Given the description of an element on the screen output the (x, y) to click on. 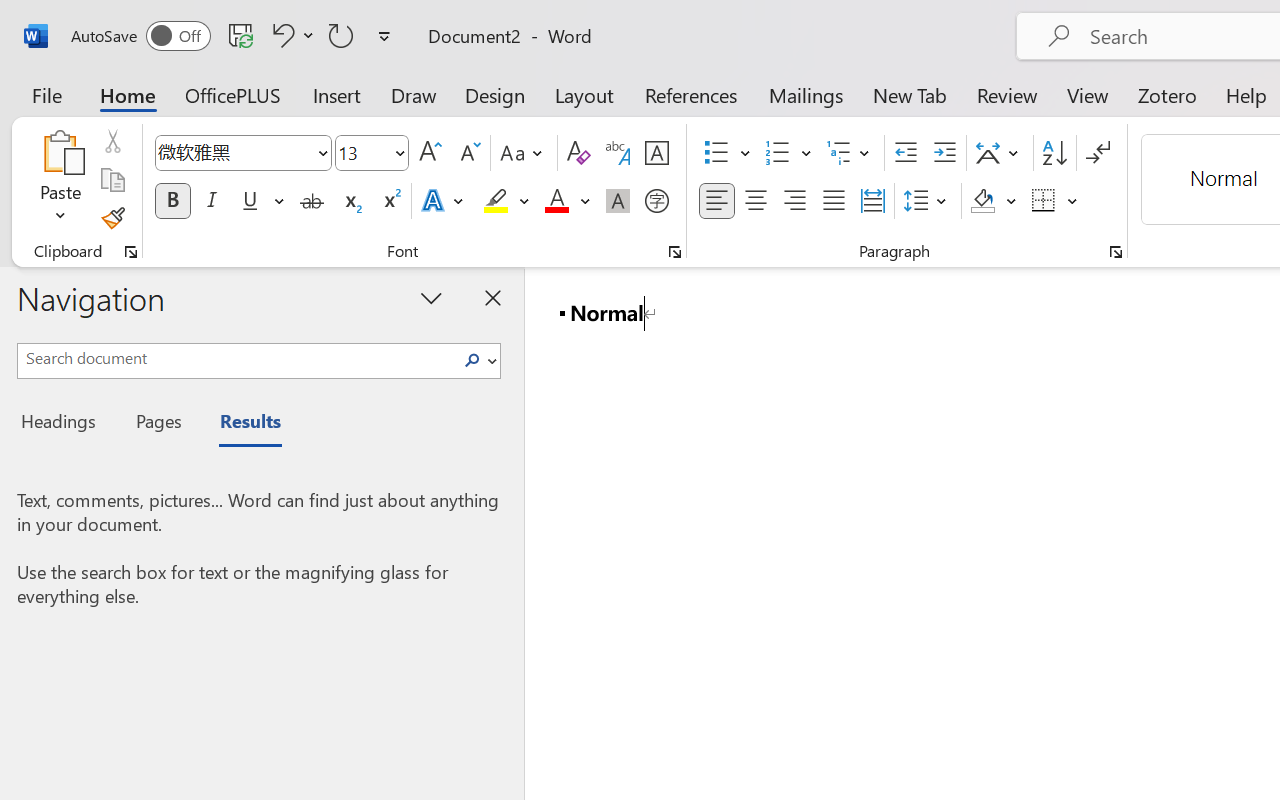
View (1087, 94)
Phonetic Guide... (618, 153)
Sort... (1054, 153)
Search (471, 360)
Text Highlight Color (506, 201)
Draw (413, 94)
Insert (337, 94)
Center (756, 201)
Undo <ApplyStyleToDoc>b__0 (280, 35)
Italic (212, 201)
Design (495, 94)
Repeat Style (341, 35)
Results (240, 424)
